Given the description of an element on the screen output the (x, y) to click on. 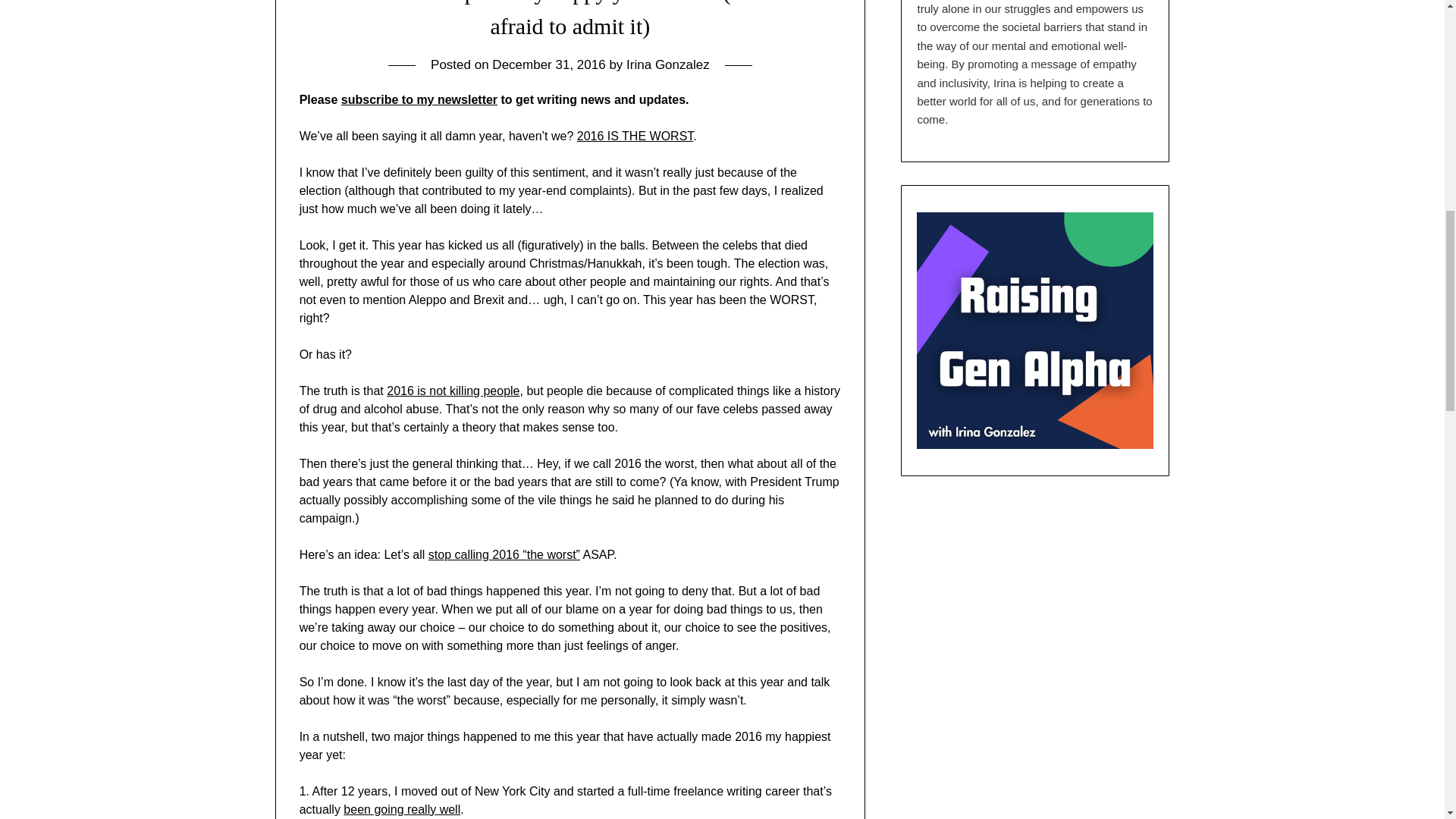
December 31, 2016 (548, 64)
been going really well (401, 809)
subscribe to my newsletter (418, 99)
Irina Gonzalez (668, 64)
2016 is not killing people (453, 390)
2016 IS THE WORST (635, 135)
